Given the description of an element on the screen output the (x, y) to click on. 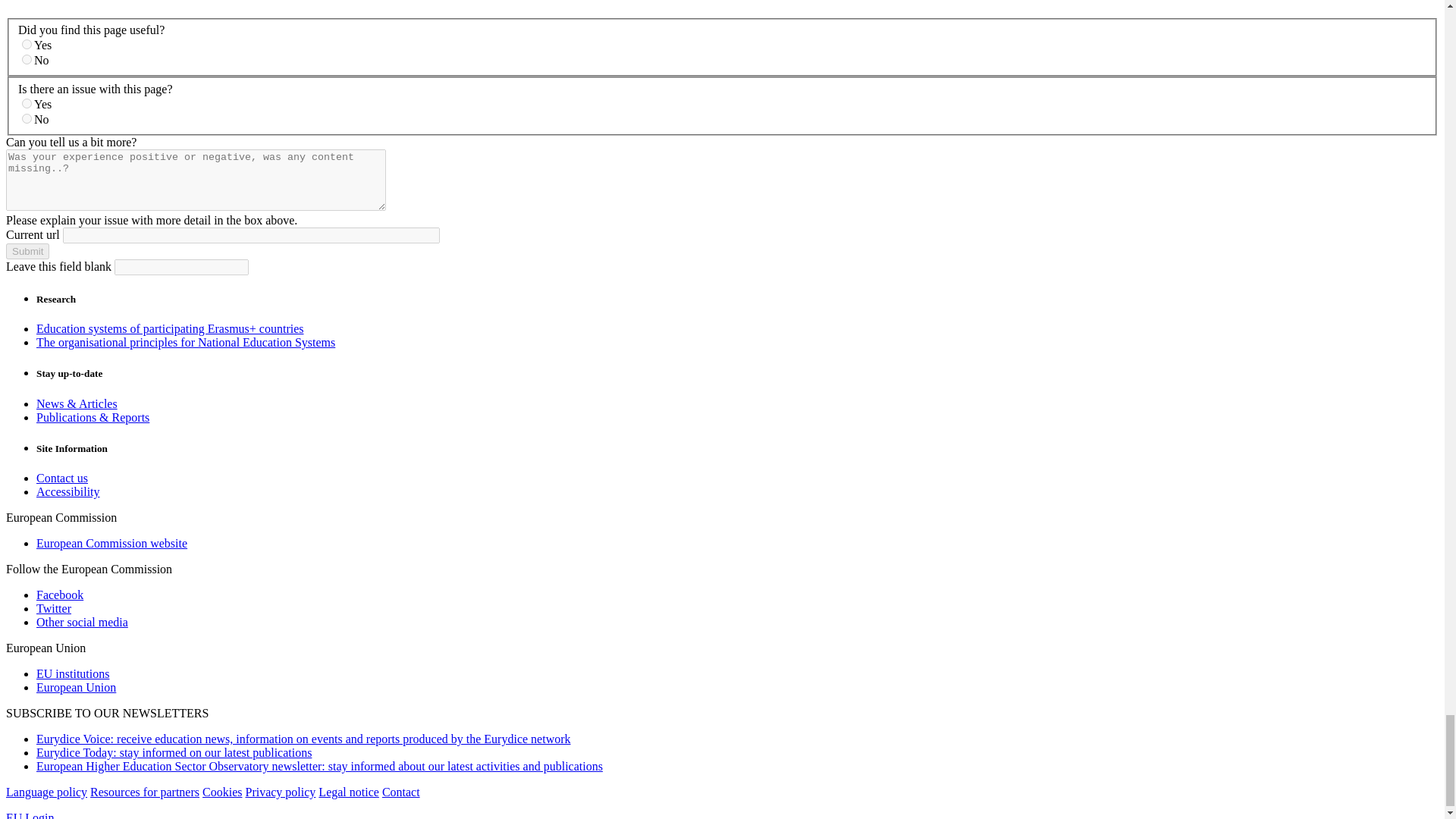
No (26, 118)
Yes (26, 103)
Yes (26, 44)
No (26, 59)
